Given the description of an element on the screen output the (x, y) to click on. 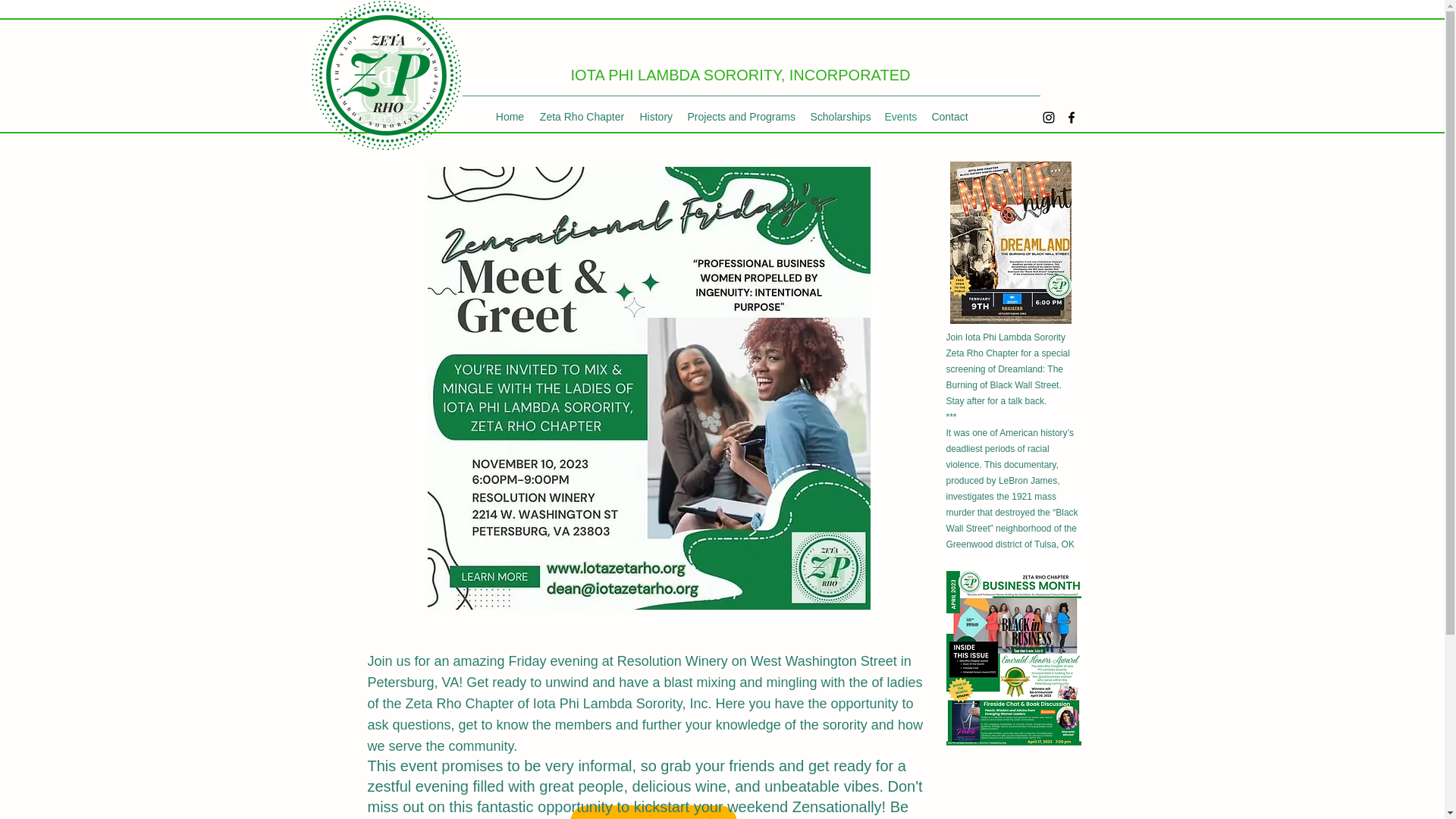
Home (509, 116)
Zeta Rho Chapter (581, 116)
Events (899, 116)
REGISTER (653, 812)
Scholarships (839, 116)
Contact (949, 116)
Projects and Programs (740, 116)
History (655, 116)
